Given the description of an element on the screen output the (x, y) to click on. 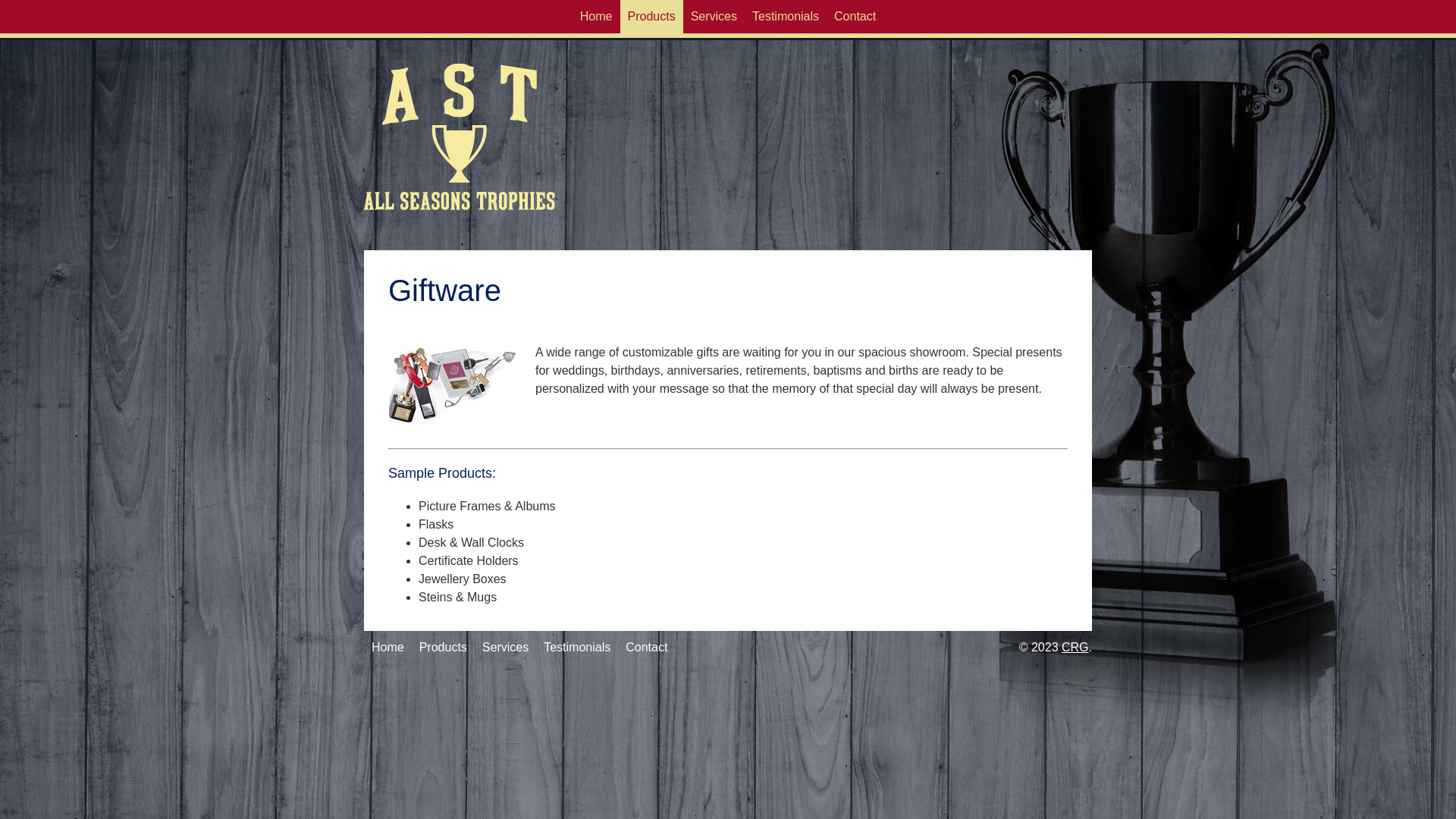
Contact Element type: text (646, 647)
Testimonials Element type: text (785, 16)
Products Element type: text (651, 16)
Products Element type: text (442, 647)
Services Element type: text (505, 647)
Home Element type: text (596, 16)
Testimonials Element type: text (577, 647)
Services Element type: text (713, 16)
Home Element type: text (387, 647)
Contact Element type: text (854, 16)
CRG Element type: text (1074, 646)
